Given the description of an element on the screen output the (x, y) to click on. 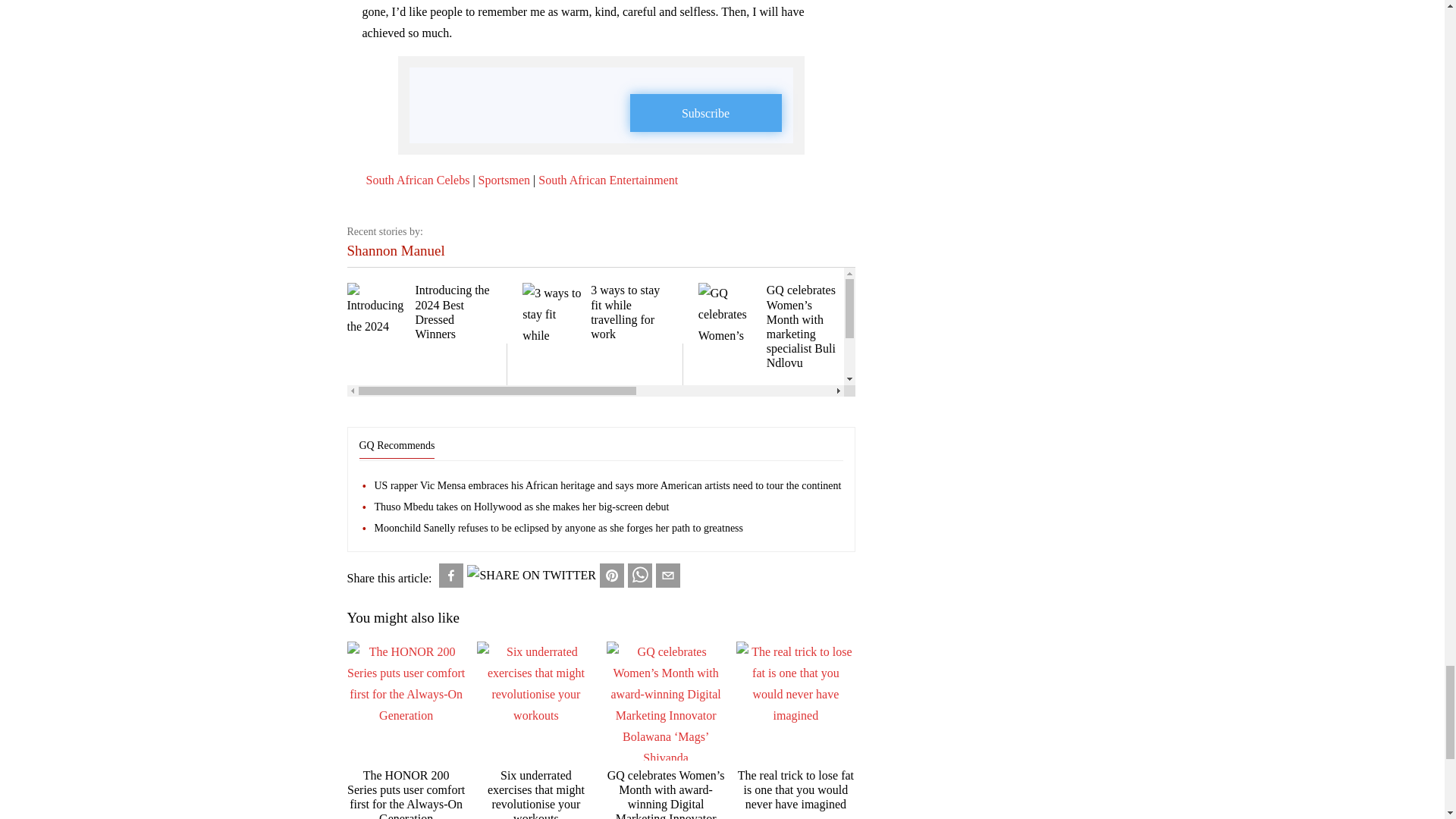
Sportsmen (504, 179)
Subscribe (704, 112)
3 ways to stay fit while travelling for work (595, 312)
Shannon Manuel (396, 250)
South African Celebs (416, 179)
Share on Twitter (531, 575)
South African Entertainment (608, 179)
